Given the description of an element on the screen output the (x, y) to click on. 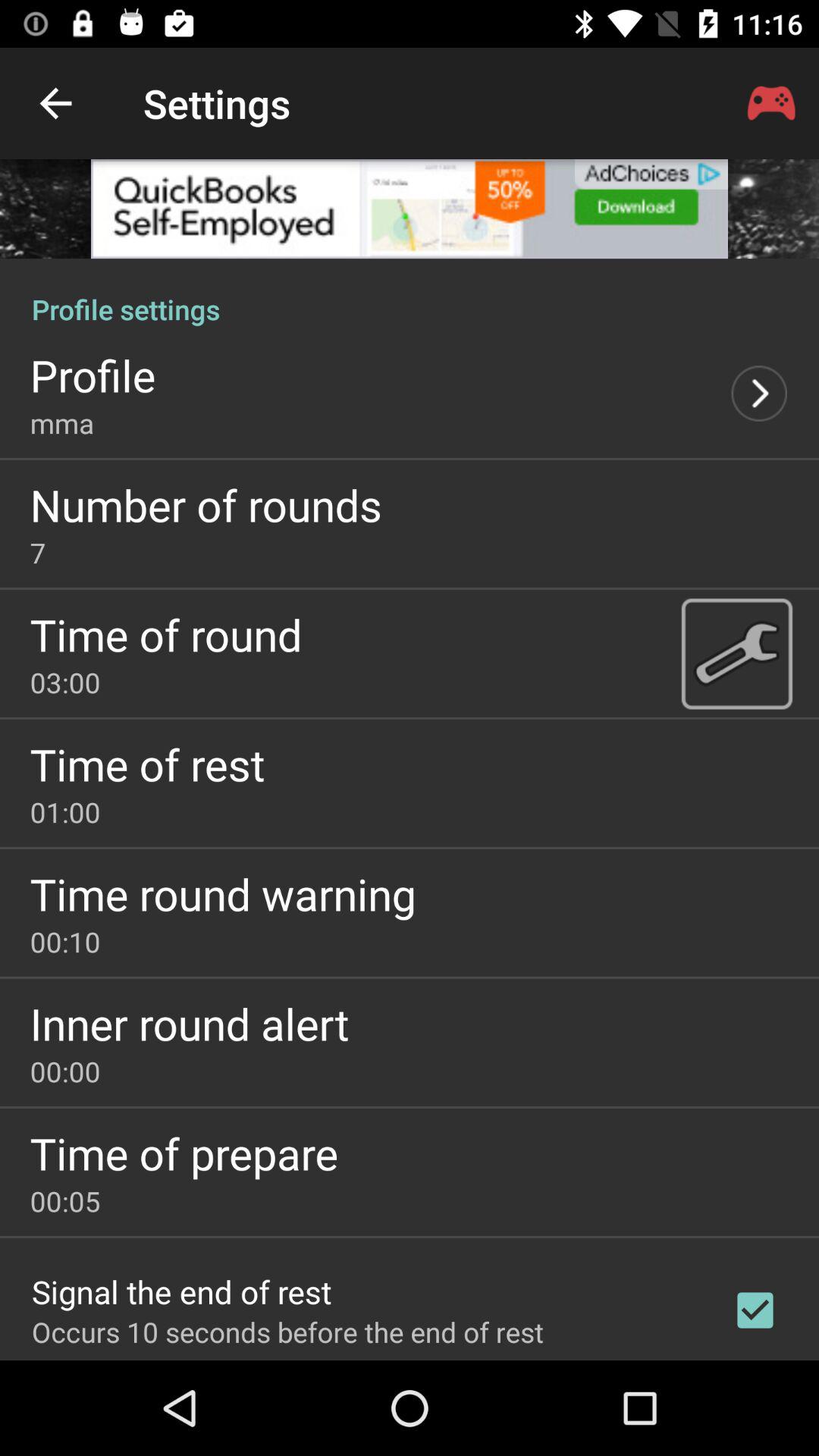
advertisement banner (409, 208)
